Given the description of an element on the screen output the (x, y) to click on. 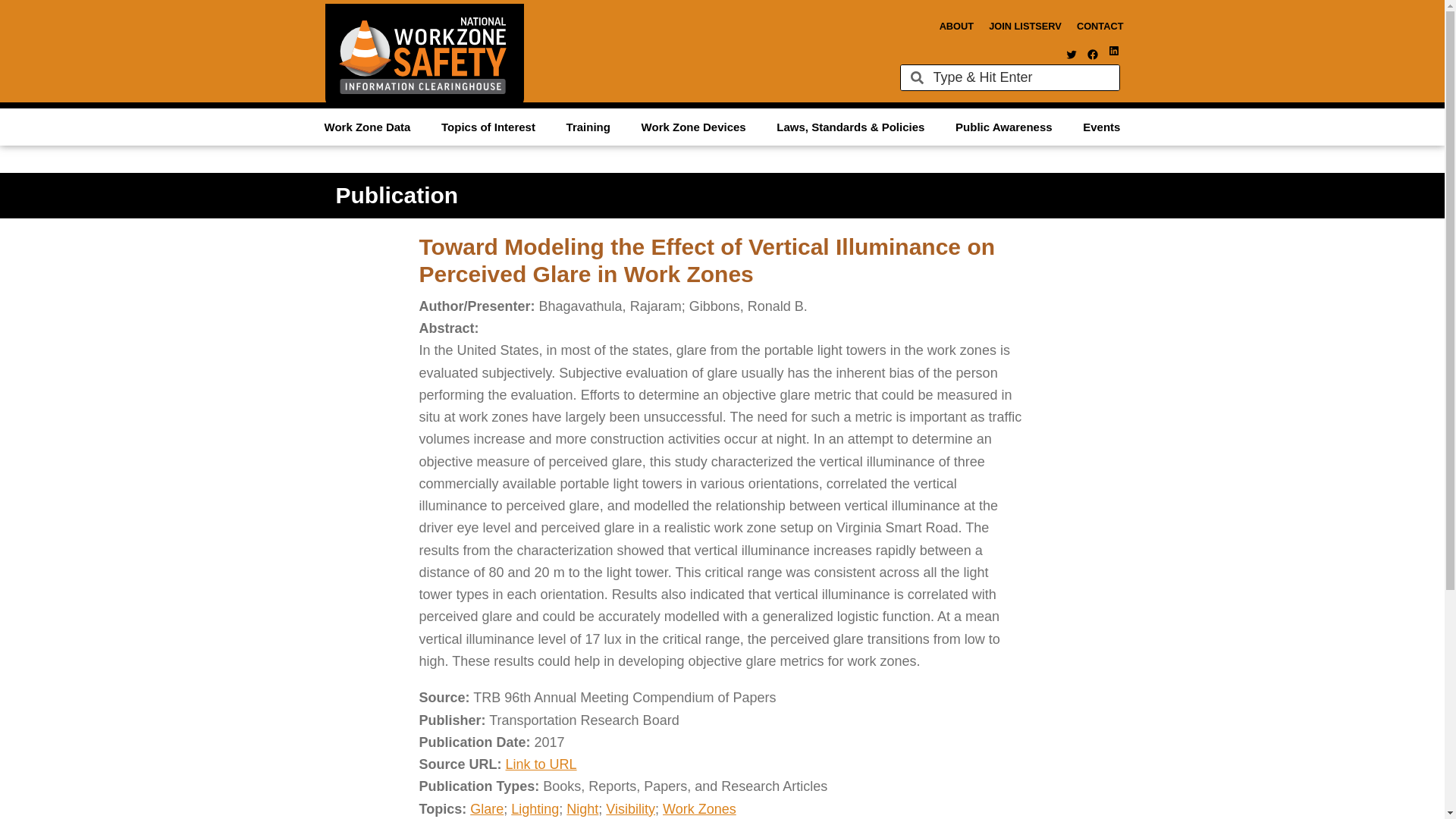
ABOUT (956, 25)
Work Zone Devices (693, 126)
CONTACT (1100, 25)
Training (587, 126)
FACEBOOK (1091, 54)
Link to URL (540, 764)
Search (1021, 77)
Public Awareness (1003, 126)
LINKEDIN (1112, 50)
Topics of Interest (488, 126)
Work Zone Data (367, 126)
Events (1101, 126)
JOIN LISTSERV (1024, 25)
TWITTER (1070, 54)
